Given the description of an element on the screen output the (x, y) to click on. 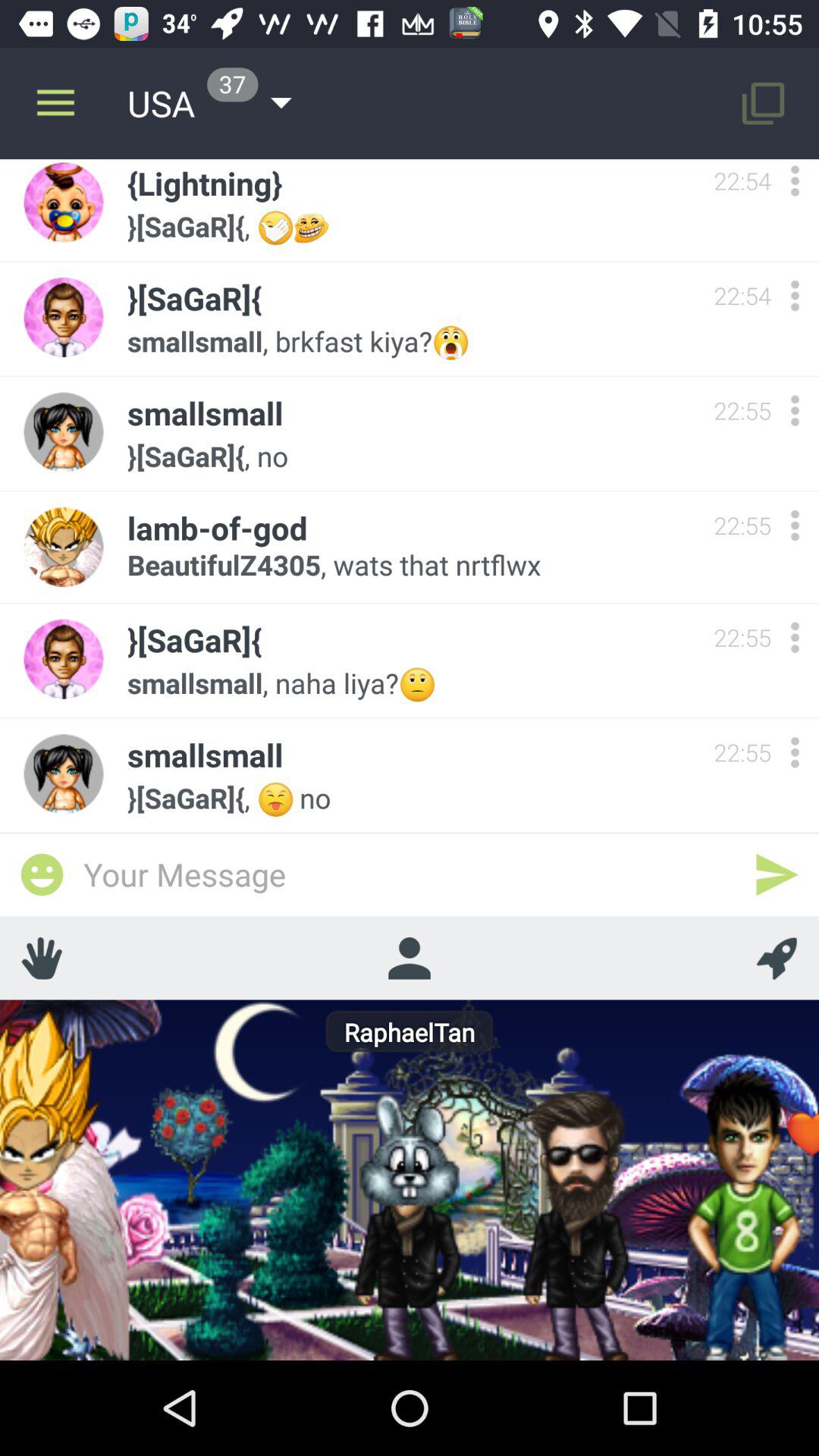
menu option (795, 752)
